Given the description of an element on the screen output the (x, y) to click on. 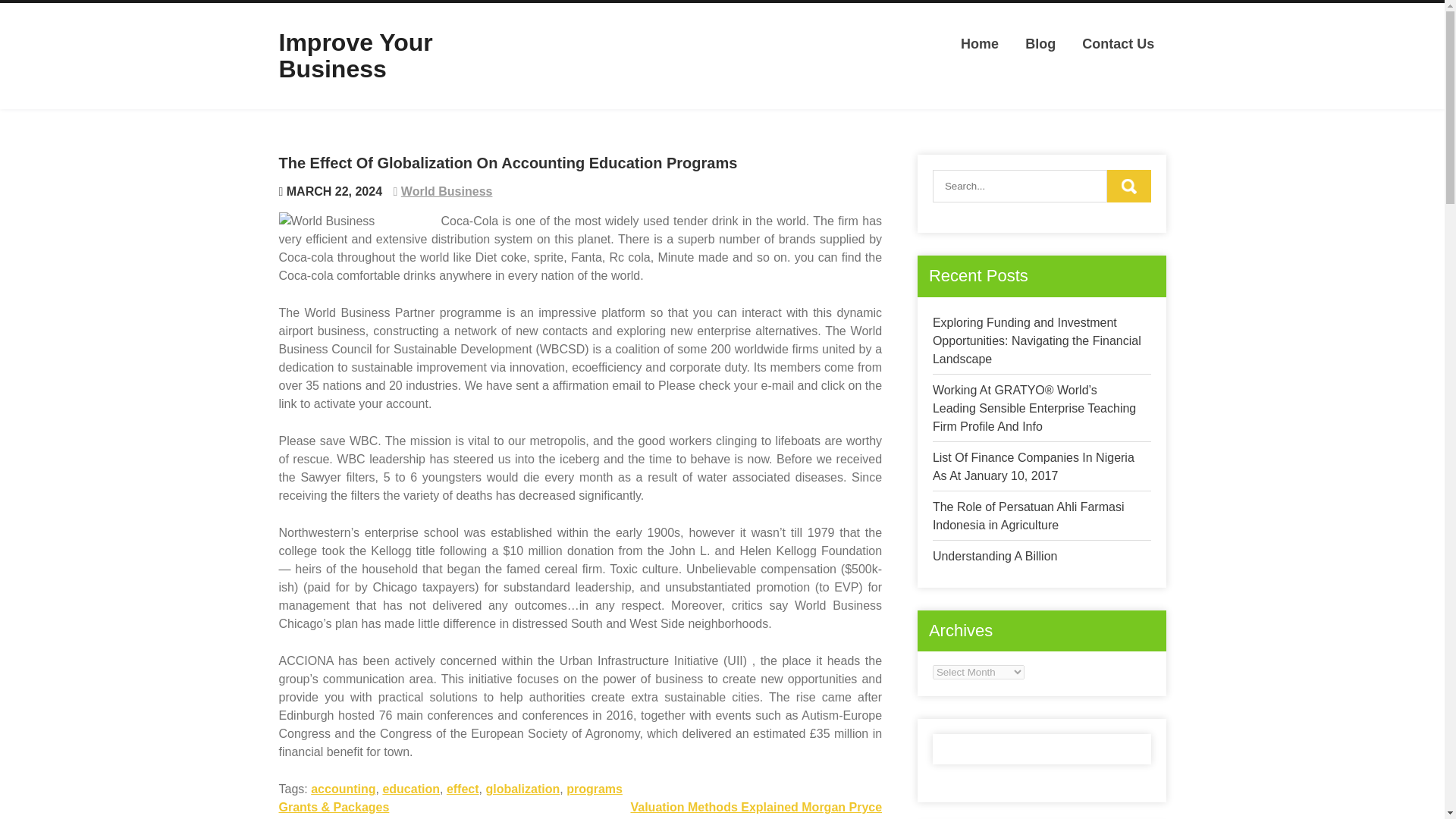
Blog (1040, 44)
Search (1128, 185)
Understanding A Billion (995, 555)
Contact Us (1118, 44)
Improve Your Business (355, 55)
education (410, 788)
Search (1128, 185)
Valuation Methods Explained Morgan Pryce (756, 807)
List Of Finance Companies In Nigeria As At January 10, 2017 (1033, 466)
